Given the description of an element on the screen output the (x, y) to click on. 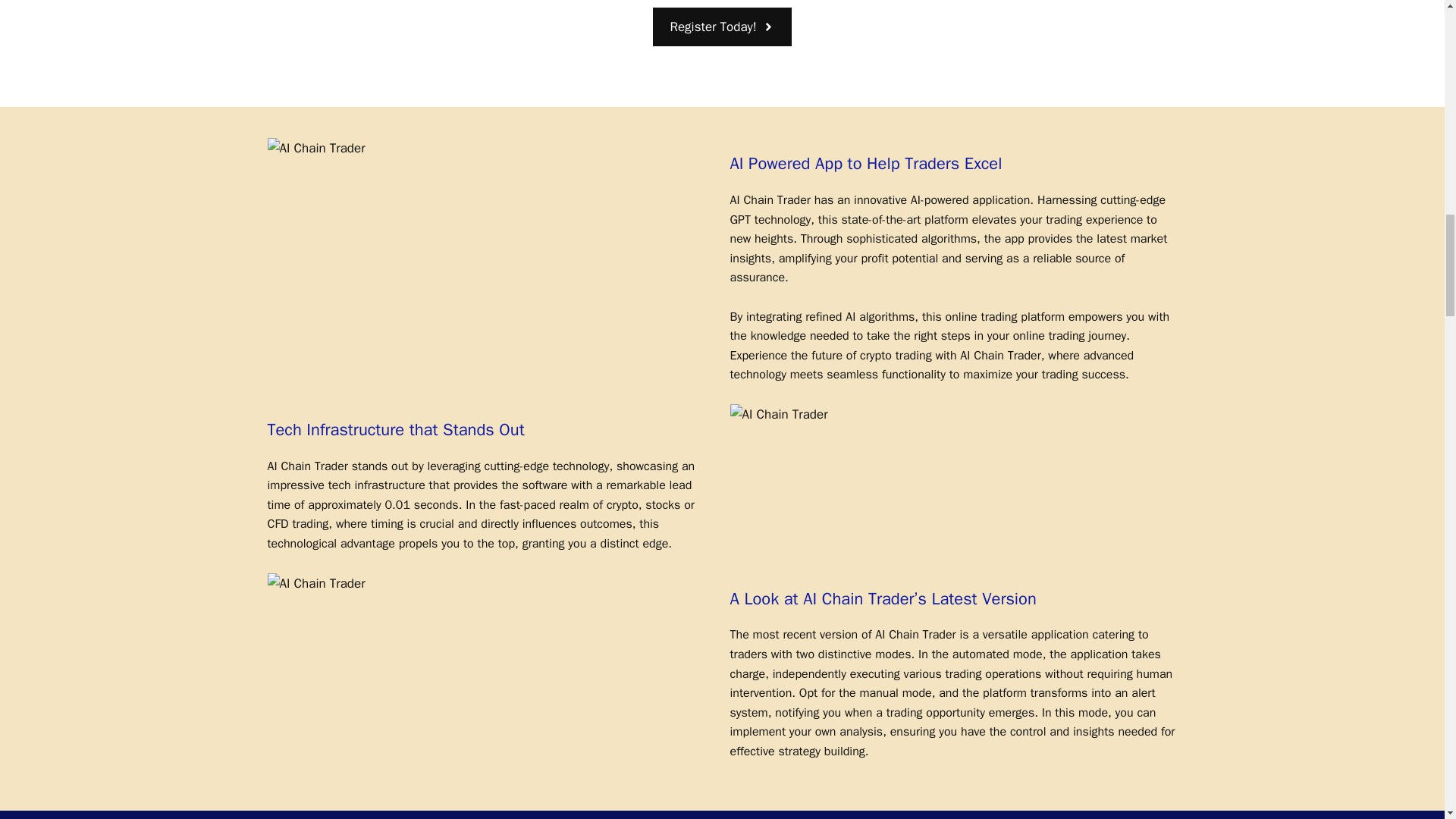
Register Today! (721, 26)
AI Chain Trader (778, 414)
AI Chain Trader (315, 583)
AI Chain Trader (315, 148)
